Given the description of an element on the screen output the (x, y) to click on. 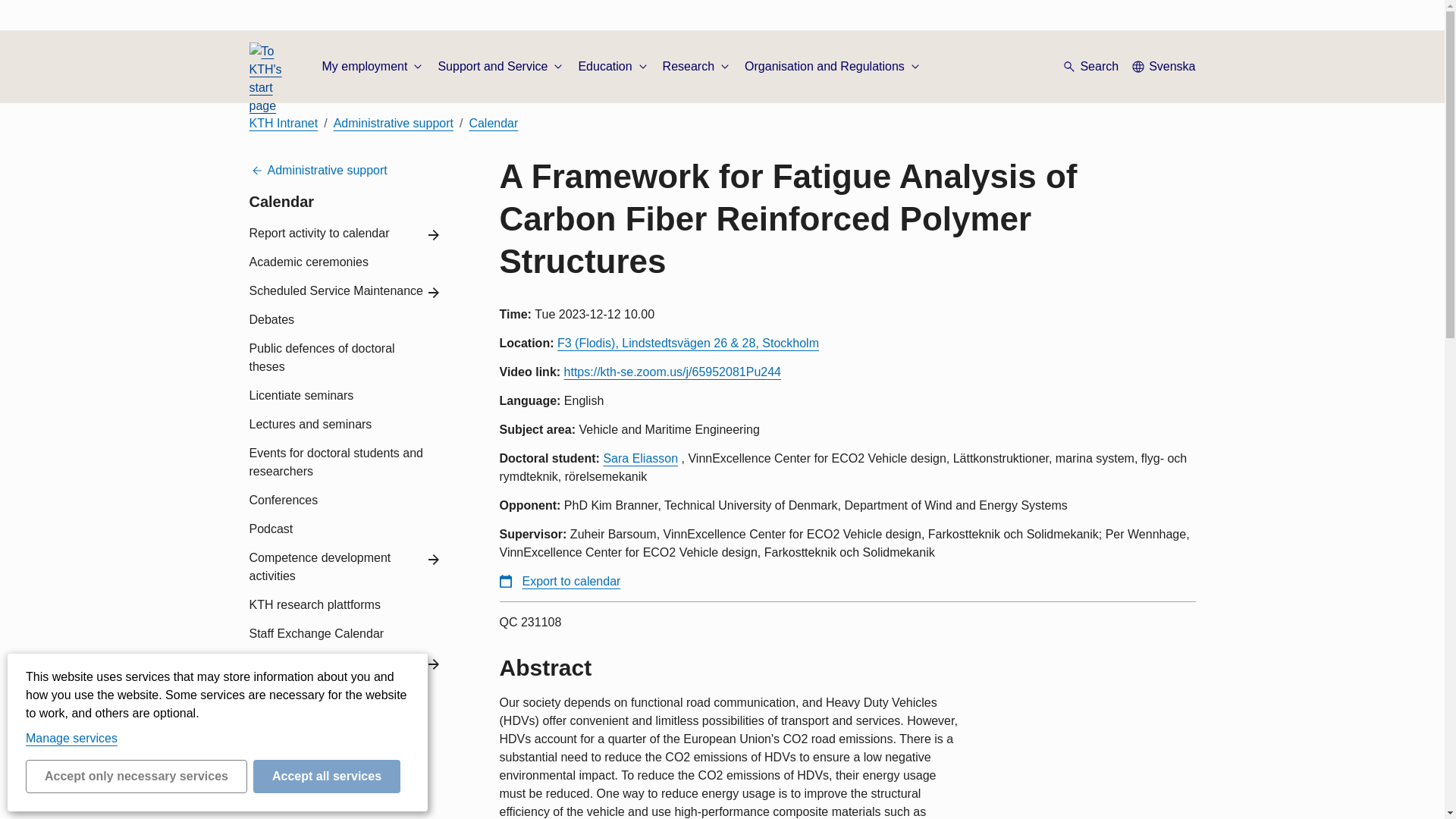
Education (613, 66)
Support and Service (502, 66)
Organisation and Regulations (833, 66)
Research (697, 66)
My employment (373, 66)
